Given the description of an element on the screen output the (x, y) to click on. 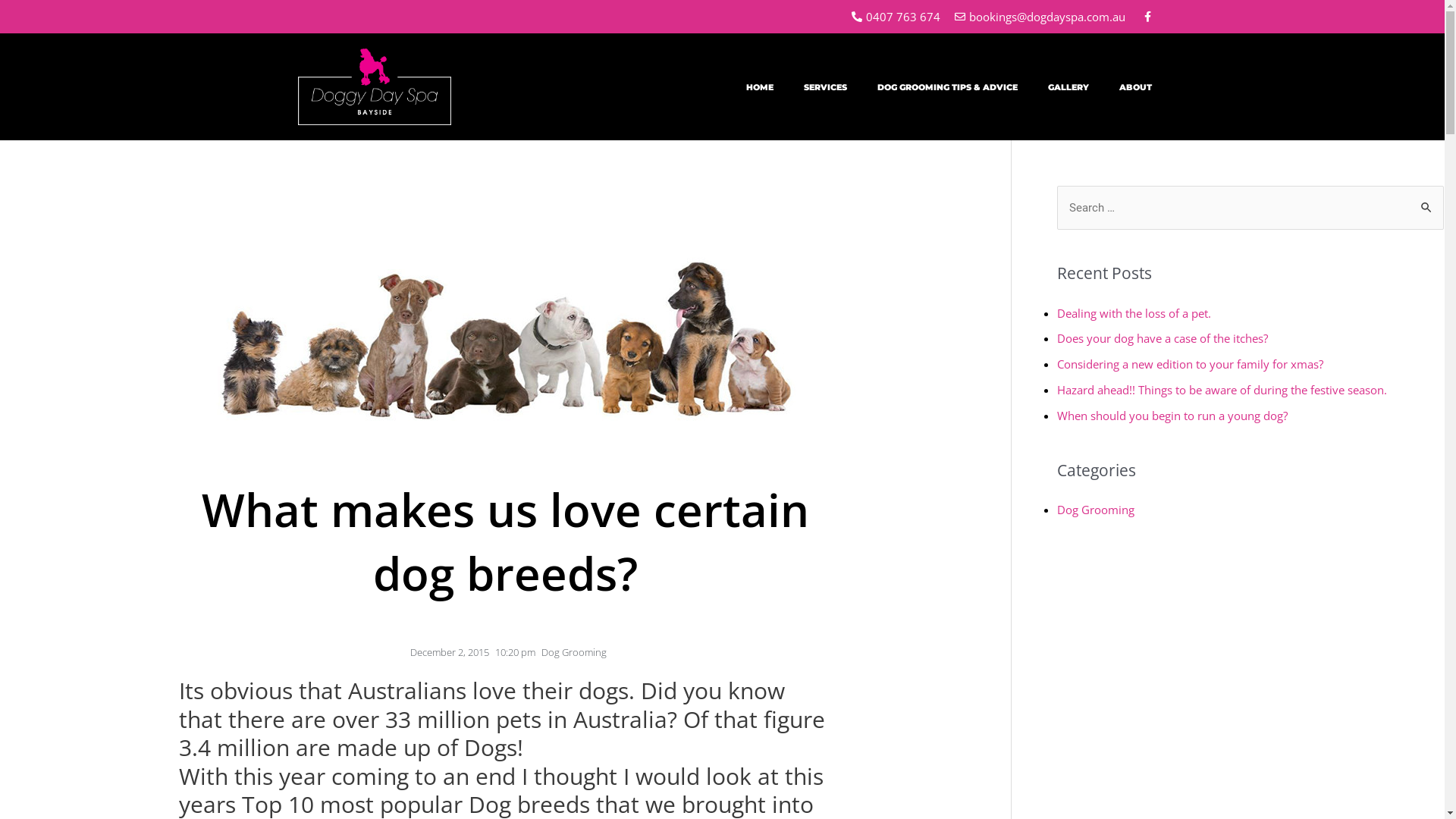
SERVICES Element type: text (825, 86)
bookings@dogdayspa.com.au Element type: text (1039, 16)
DOG GROOMING TIPS & ADVICE Element type: text (947, 86)
dogbreeds Element type: hover (504, 289)
ABOUT Element type: text (1135, 86)
HOME Element type: text (759, 86)
Dog Grooming Element type: text (1095, 509)
Does your dog have a case of the itches? Element type: text (1162, 337)
Search Element type: text (1426, 200)
December 2, 2015 Element type: text (446, 652)
Dog Grooming Element type: text (573, 651)
When should you begin to run a young dog? Element type: text (1172, 415)
Considering a new edition to your family for xmas? Element type: text (1190, 363)
Dealing with the loss of a pet. Element type: text (1134, 312)
0407 763 674 Element type: text (894, 16)
GALLERY Element type: text (1068, 86)
